Given the description of an element on the screen output the (x, y) to click on. 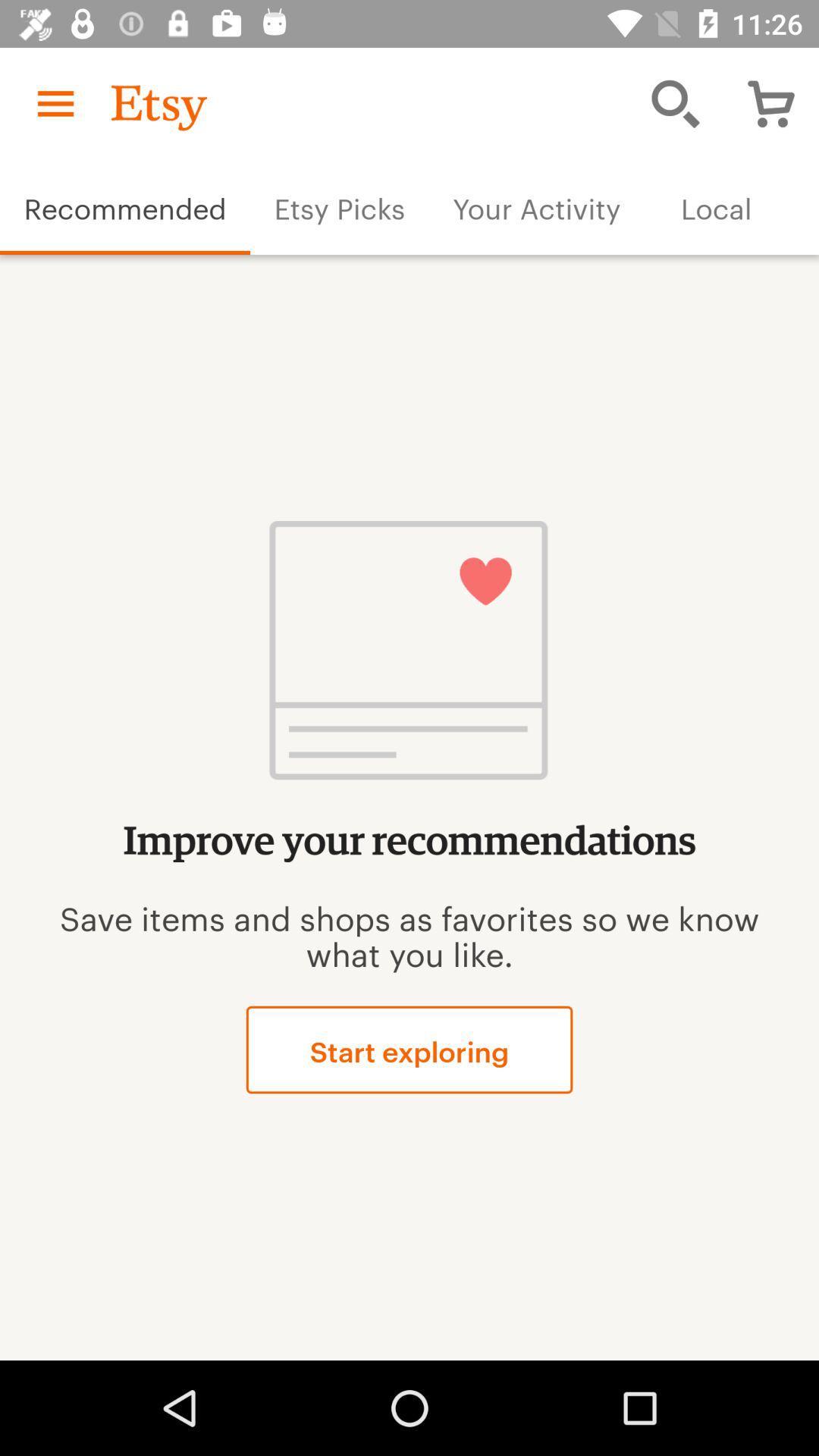
scroll until start exploring (409, 1049)
